Given the description of an element on the screen output the (x, y) to click on. 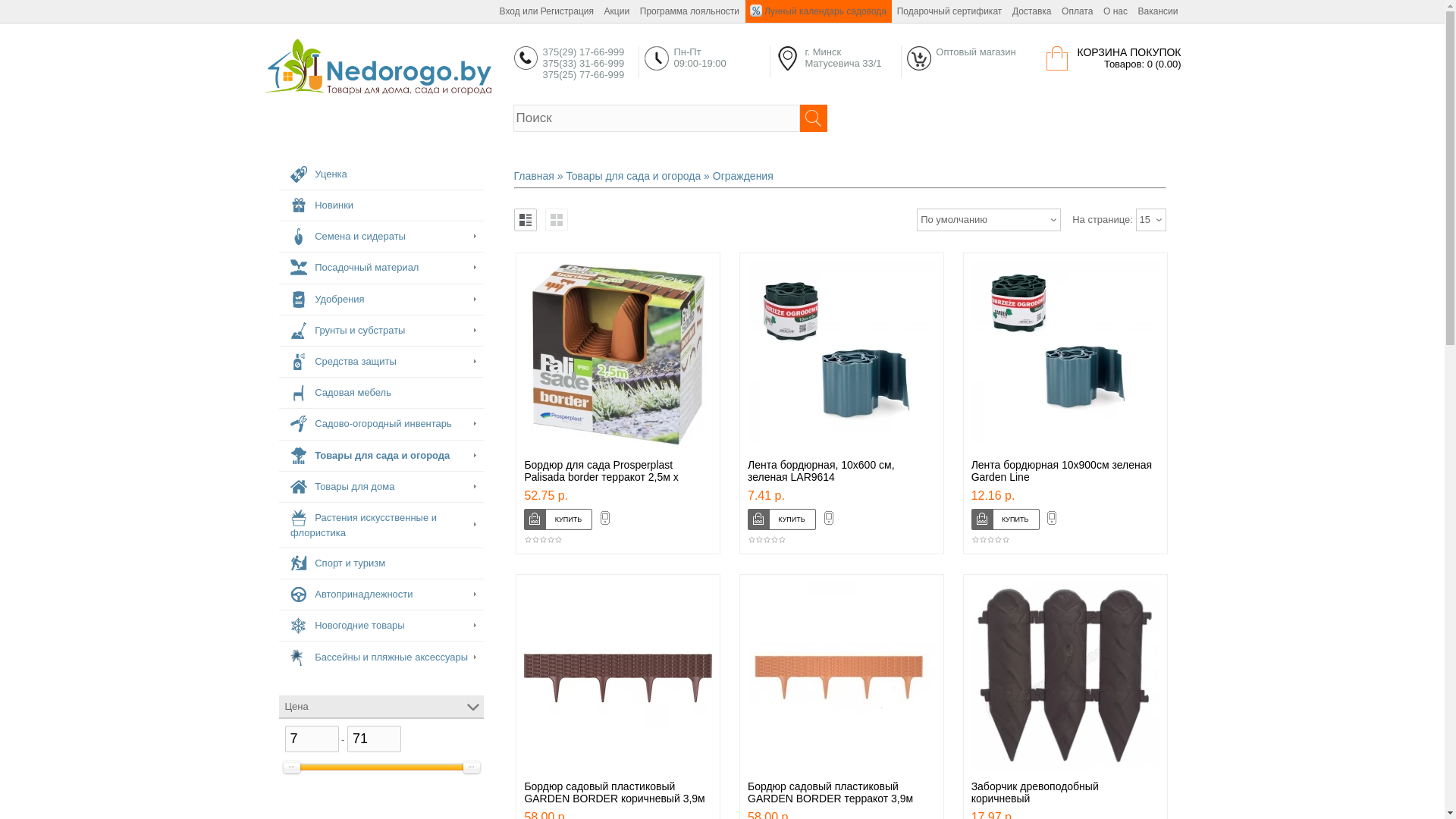
Nedorogo.BY Element type: hover (377, 66)
375(29) 17-66-999375(33) 31-66-999375(25) 77-66-999 Element type: hover (526, 58)
